Given the description of an element on the screen output the (x, y) to click on. 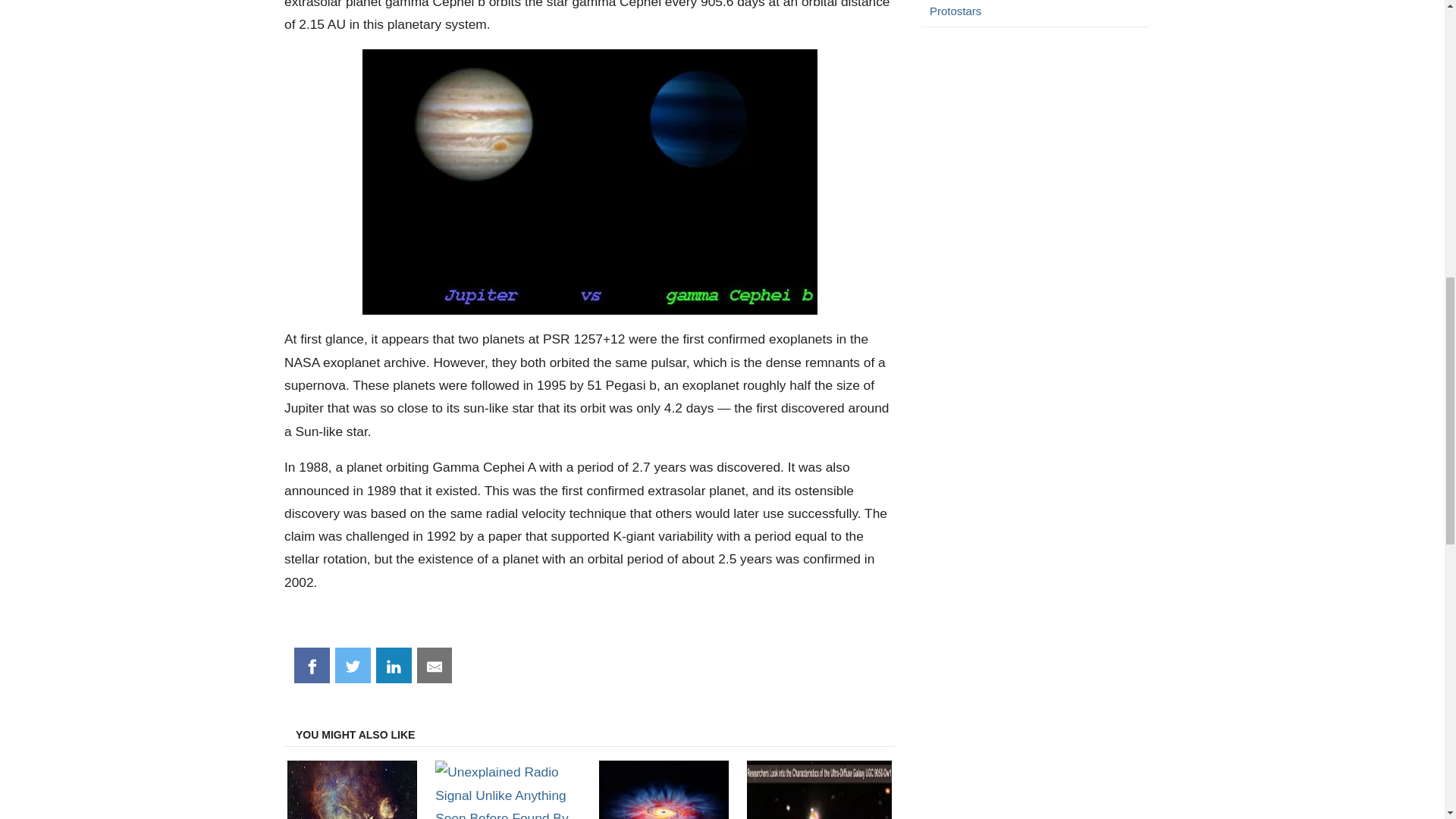
Share on Email (434, 665)
First Truly Isolated Black Hole Discovered In the Milky Way (663, 788)
Tweet this ! (352, 665)
Share on Facebook (312, 665)
In the Orion Nebula, Anatomy of a Protostellar Jet Impact (351, 788)
Share on LinkedIn (393, 665)
